Given the description of an element on the screen output the (x, y) to click on. 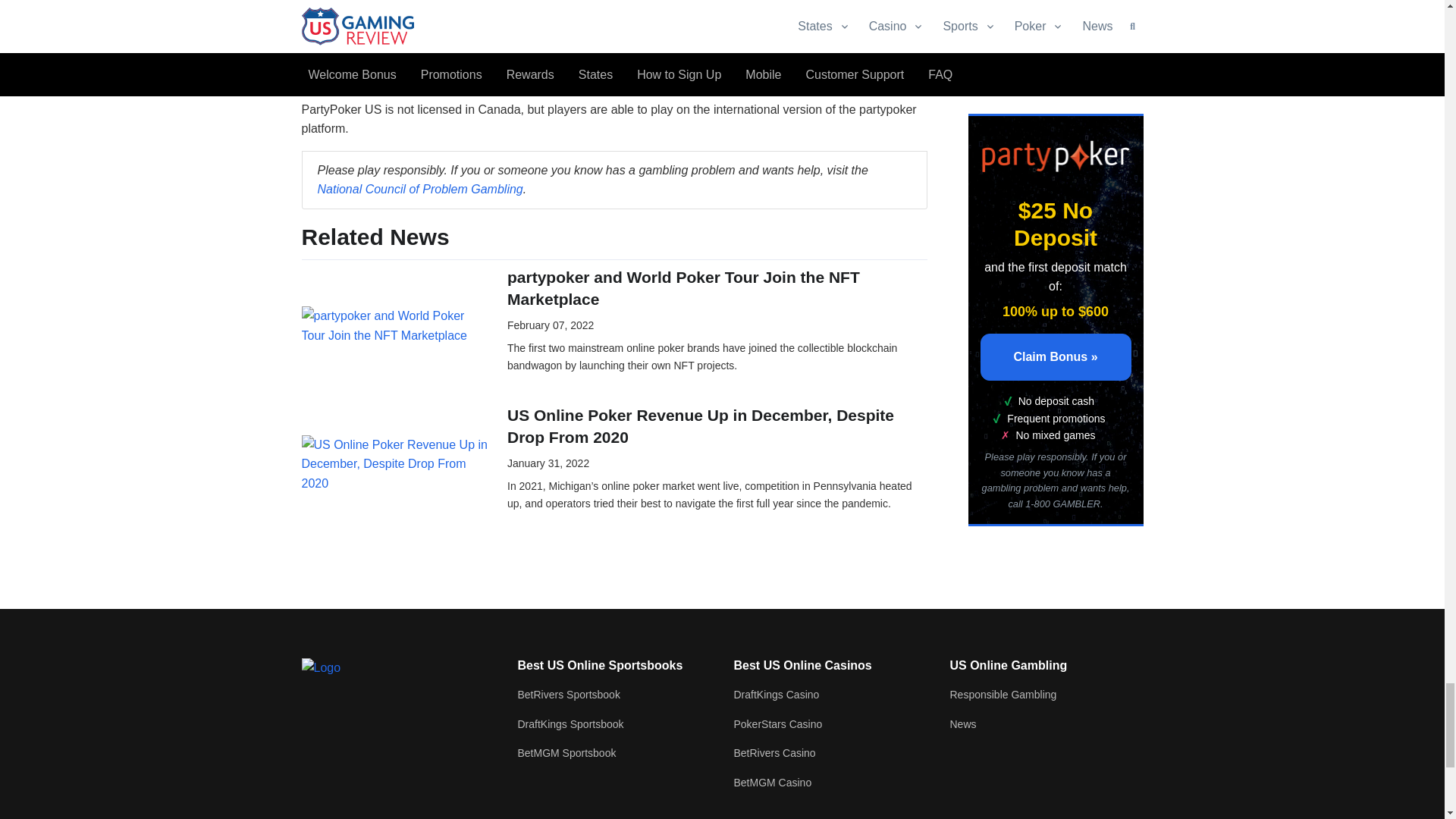
partypoker and World Poker Tour Join the NFT Marketplace (395, 325)
2022-01-31T01:33:44Z (547, 463)
partypoker and World Poker Tour Join the NFT Marketplace (395, 324)
2022-02-07T18:58:40Z (550, 325)
